Given the description of an element on the screen output the (x, y) to click on. 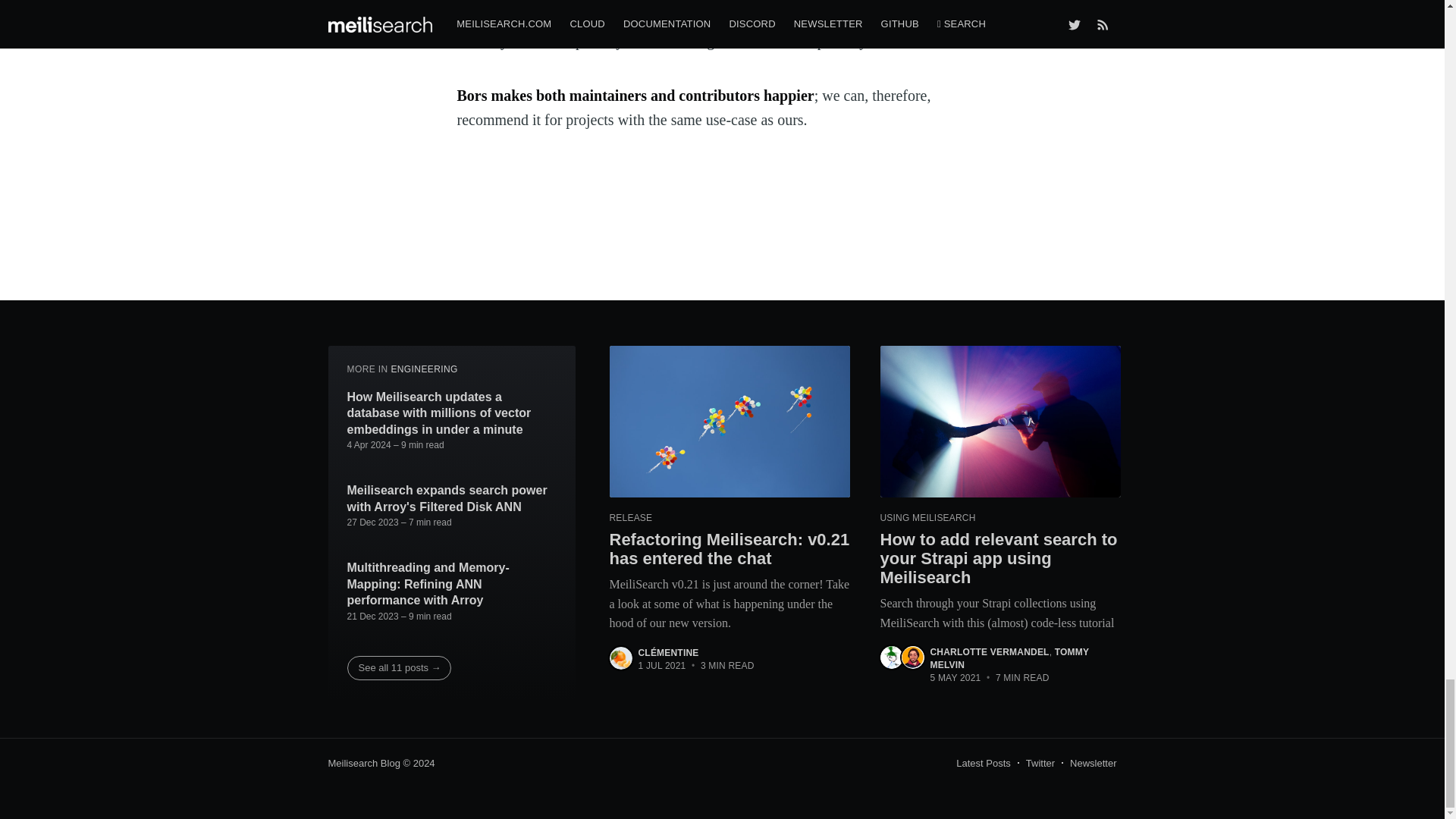
Meilisearch Blog (362, 763)
CHARLOTTE VERMANDEL (989, 652)
ENGINEERING (423, 368)
TOMMY MELVIN (1008, 658)
Newsletter (1093, 763)
Latest Posts (983, 763)
Twitter (1040, 763)
